Given the description of an element on the screen output the (x, y) to click on. 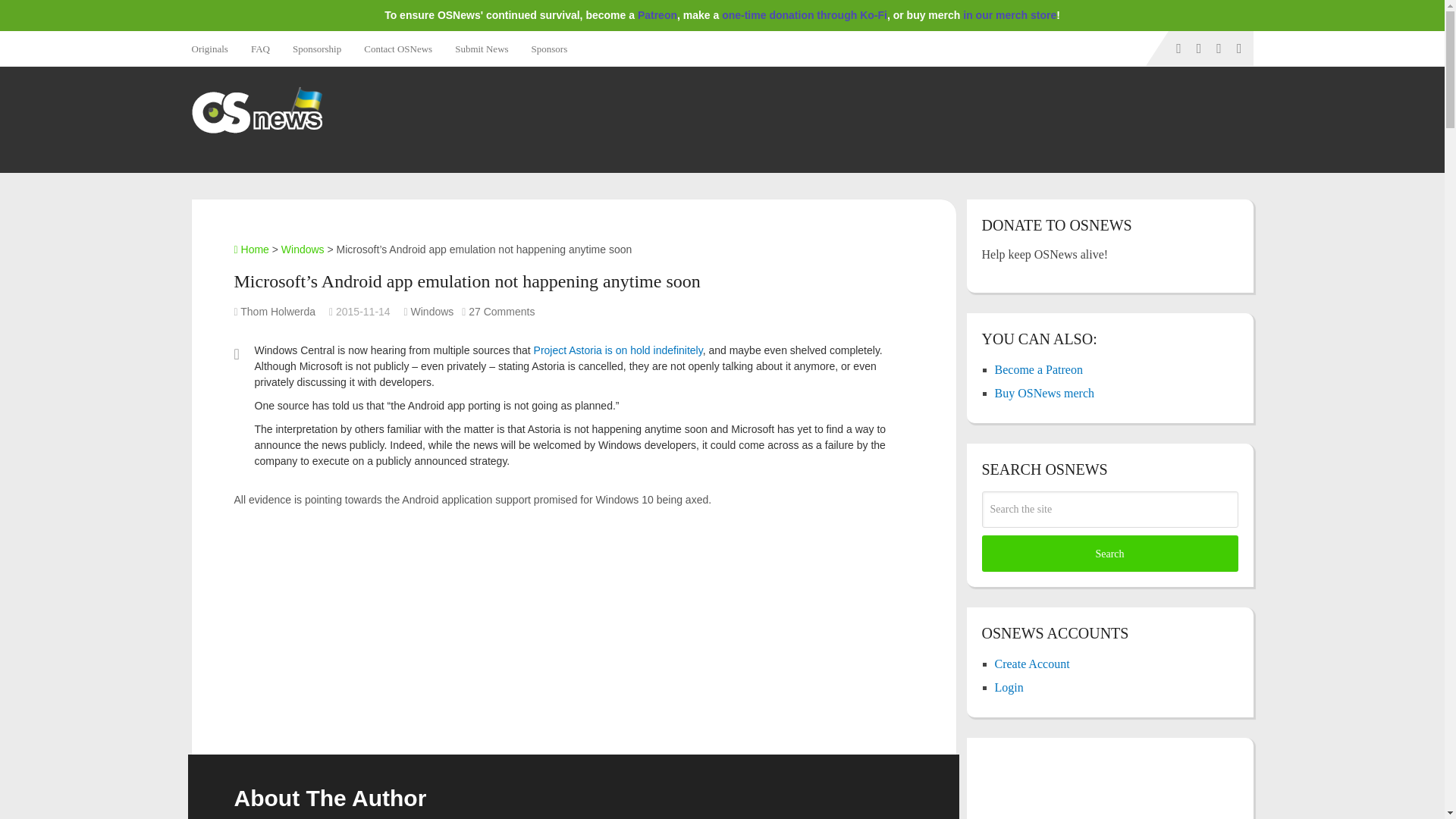
Project Astoria is on hold indefinitely (618, 349)
Thom Holwerda (277, 311)
Patreon (657, 15)
in our merch store (1009, 15)
Windows (302, 249)
Sponsors (549, 48)
Search (1109, 553)
Sponsorship (316, 48)
View all posts in Windows (432, 311)
Contact OSNews (398, 48)
